Given the description of an element on the screen output the (x, y) to click on. 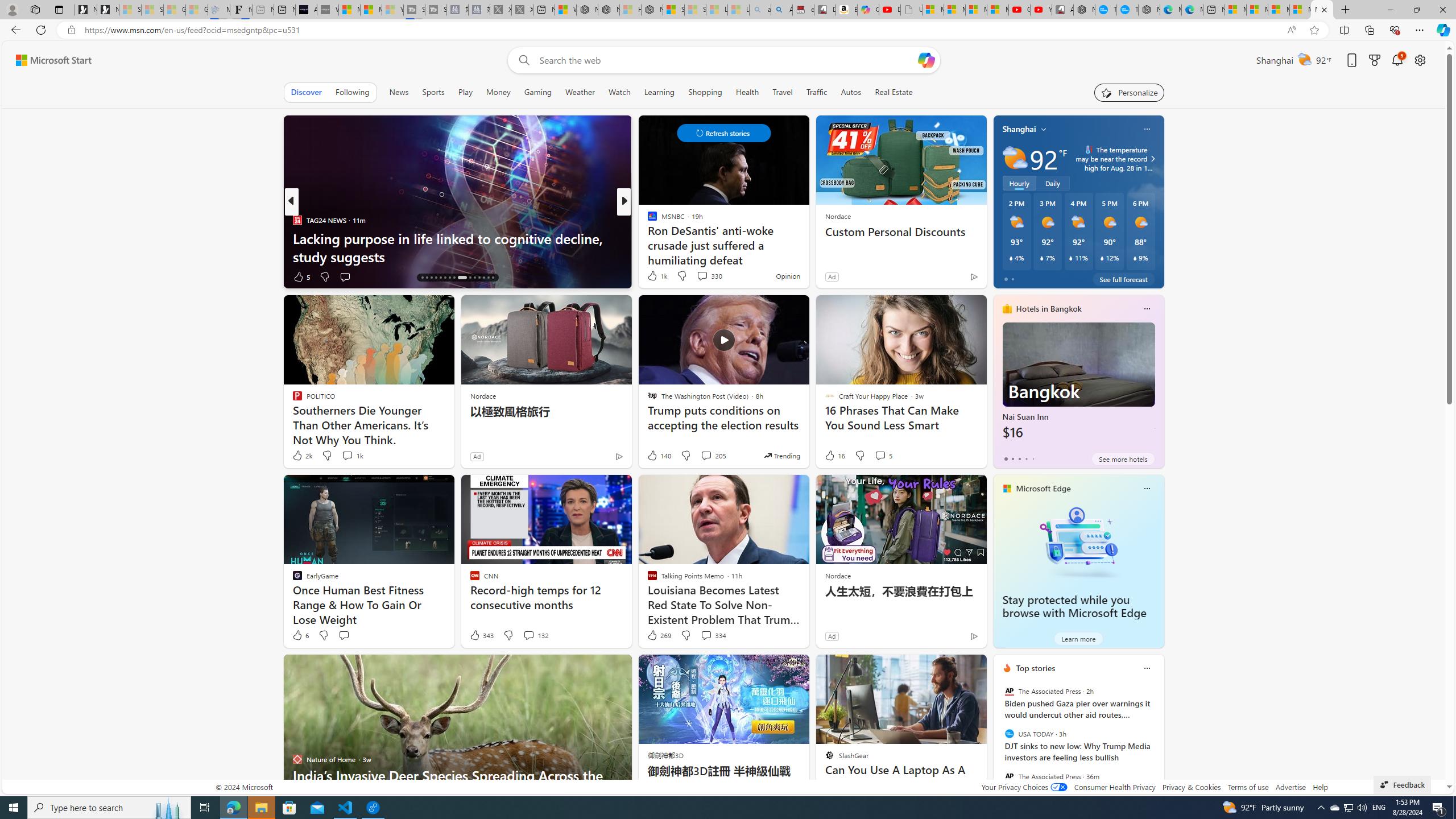
AutomationID: tab-22 (449, 277)
Newsweek (647, 219)
AI Voice Changer for PC and Mac - Voice.ai (306, 9)
Hourly (1018, 183)
View comments 266 Comment (709, 276)
View comments 334 Comment (705, 635)
497 Like (654, 276)
